Given the description of an element on the screen output the (x, y) to click on. 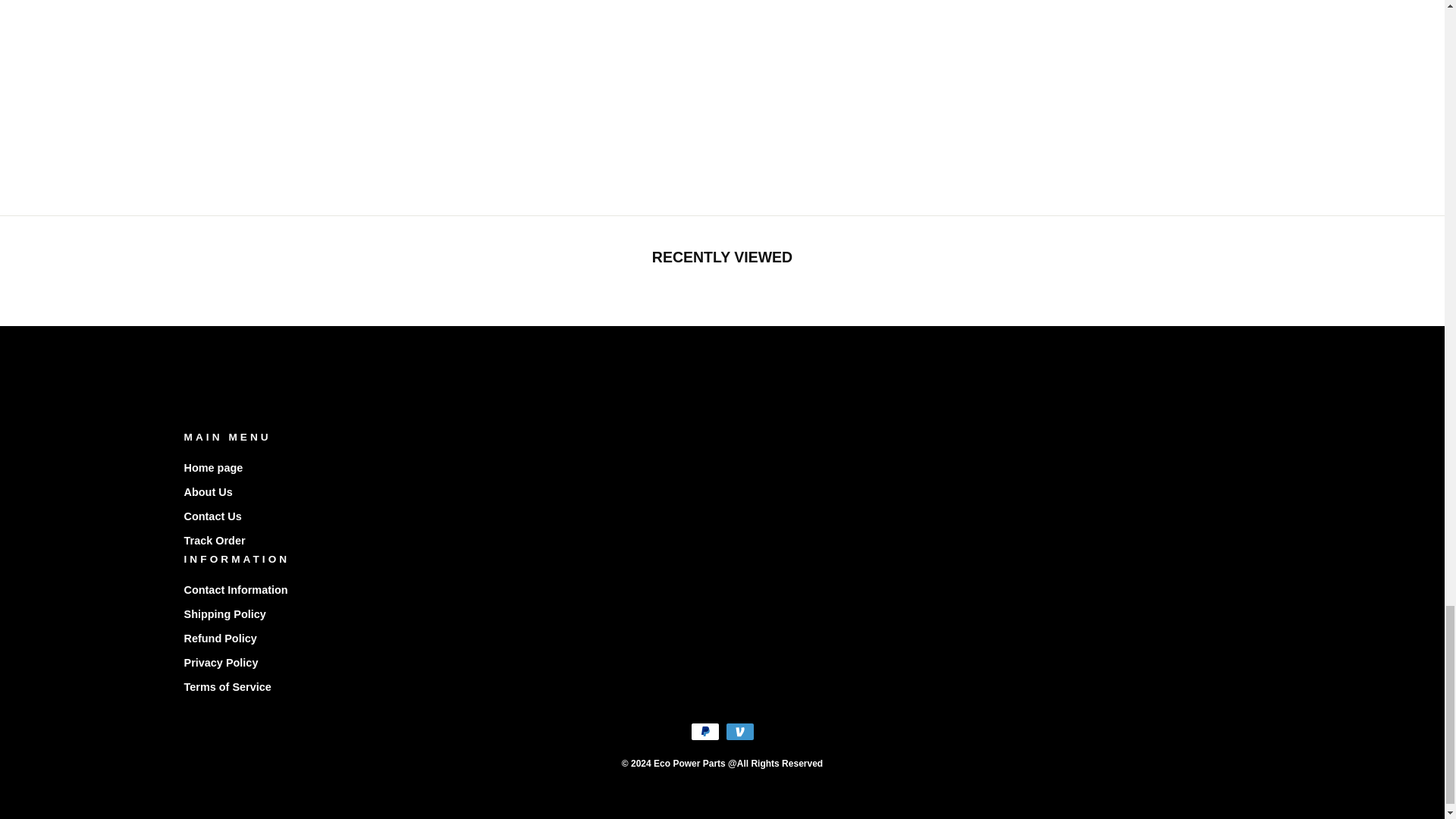
PayPal (704, 731)
Venmo (739, 731)
